Given the description of an element on the screen output the (x, y) to click on. 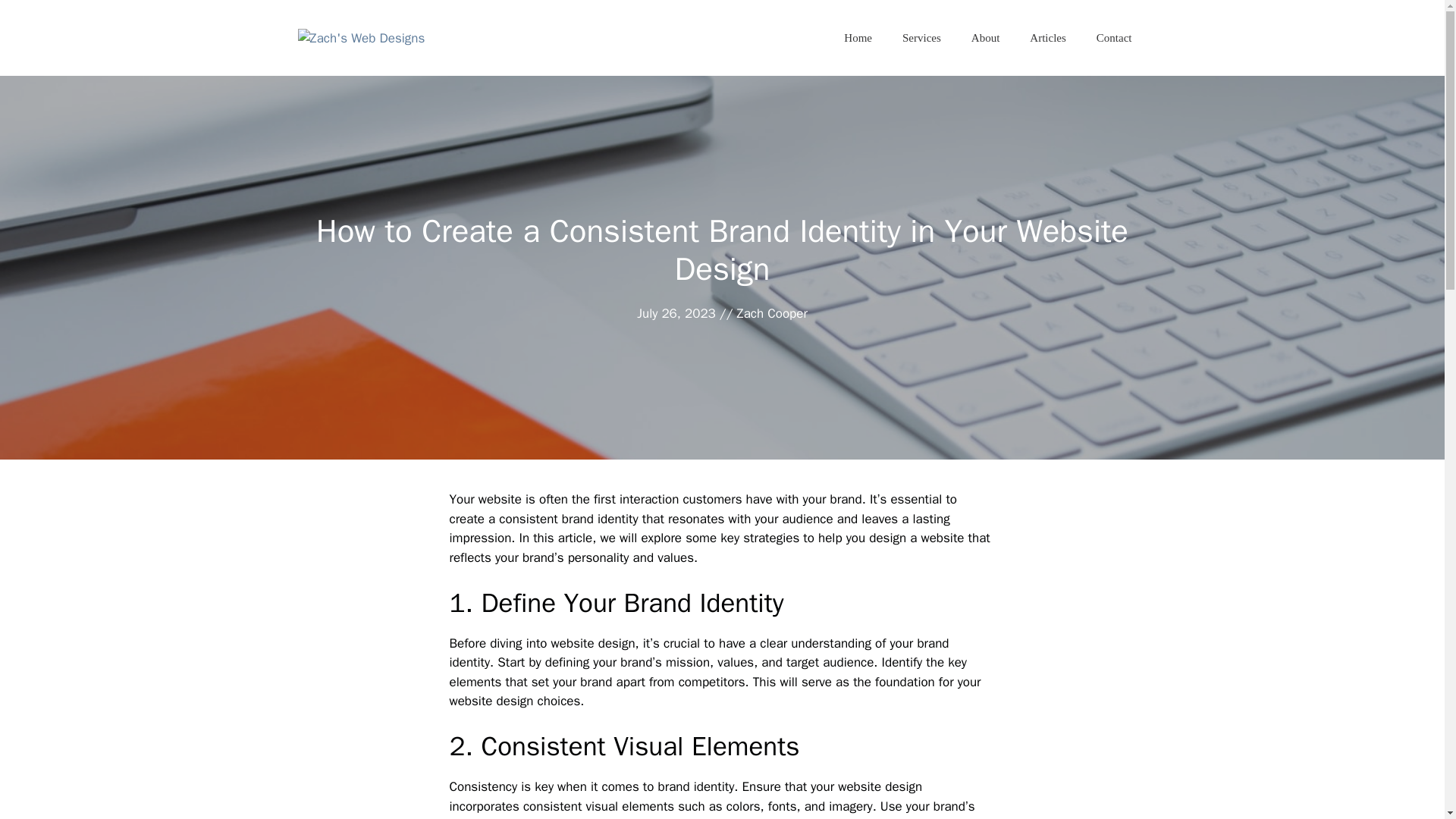
Home (857, 37)
Zach Cooper (771, 313)
Services (921, 37)
About (985, 37)
Contact (1114, 37)
Articles (1047, 37)
